Given the description of an element on the screen output the (x, y) to click on. 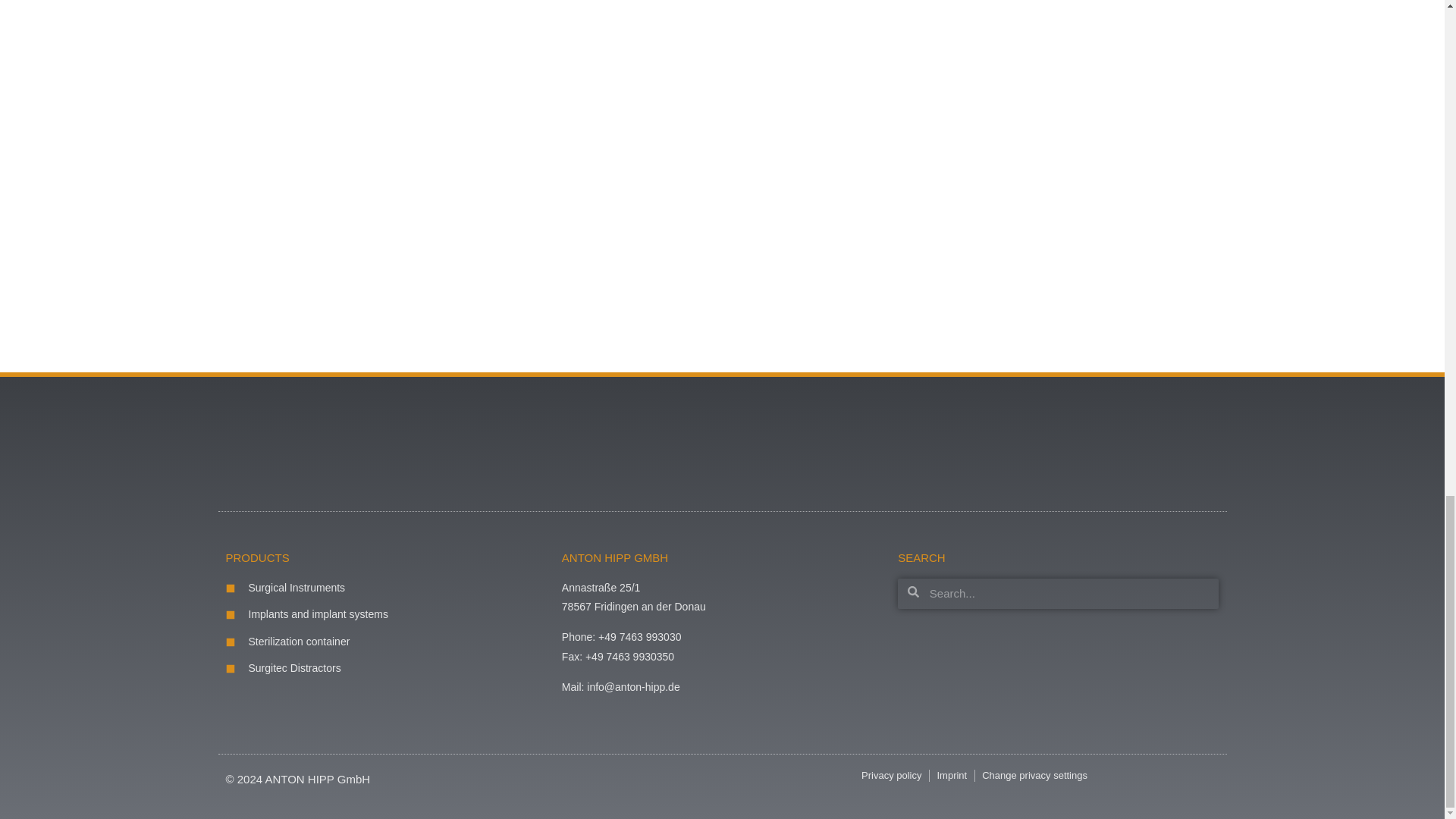
Surgical Instruments (386, 588)
Surgitec Distractors (386, 668)
Sterilization container (386, 641)
Implants and implant systems (386, 614)
